Given the description of an element on the screen output the (x, y) to click on. 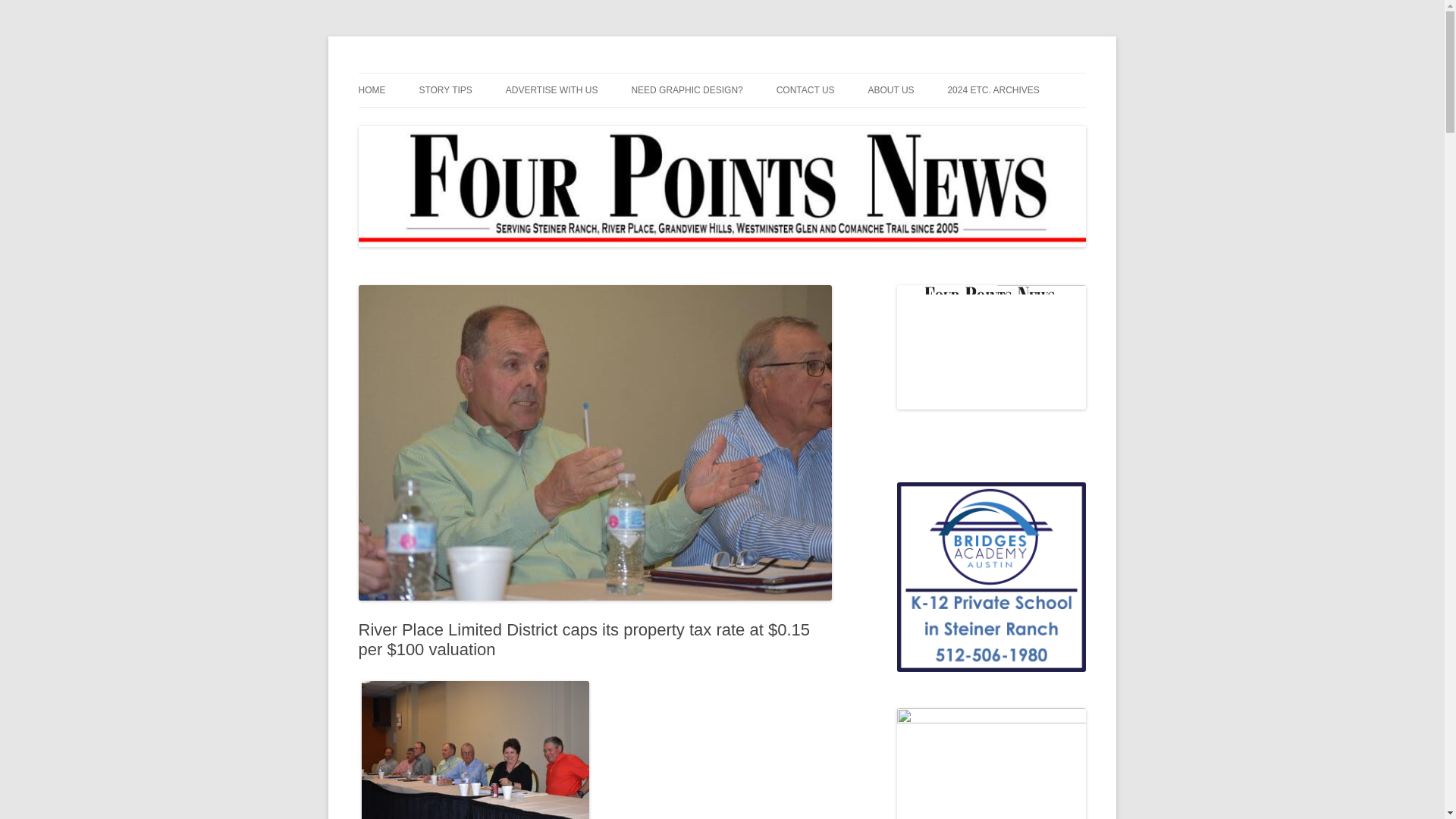
CONTACT US (805, 90)
2024 ETC. ARCHIVES (993, 90)
NEED GRAPHIC DESIGN? (686, 90)
STORY TIPS (445, 90)
ADVERTISE WITH US (551, 90)
ABOUT US (890, 90)
